Given the description of an element on the screen output the (x, y) to click on. 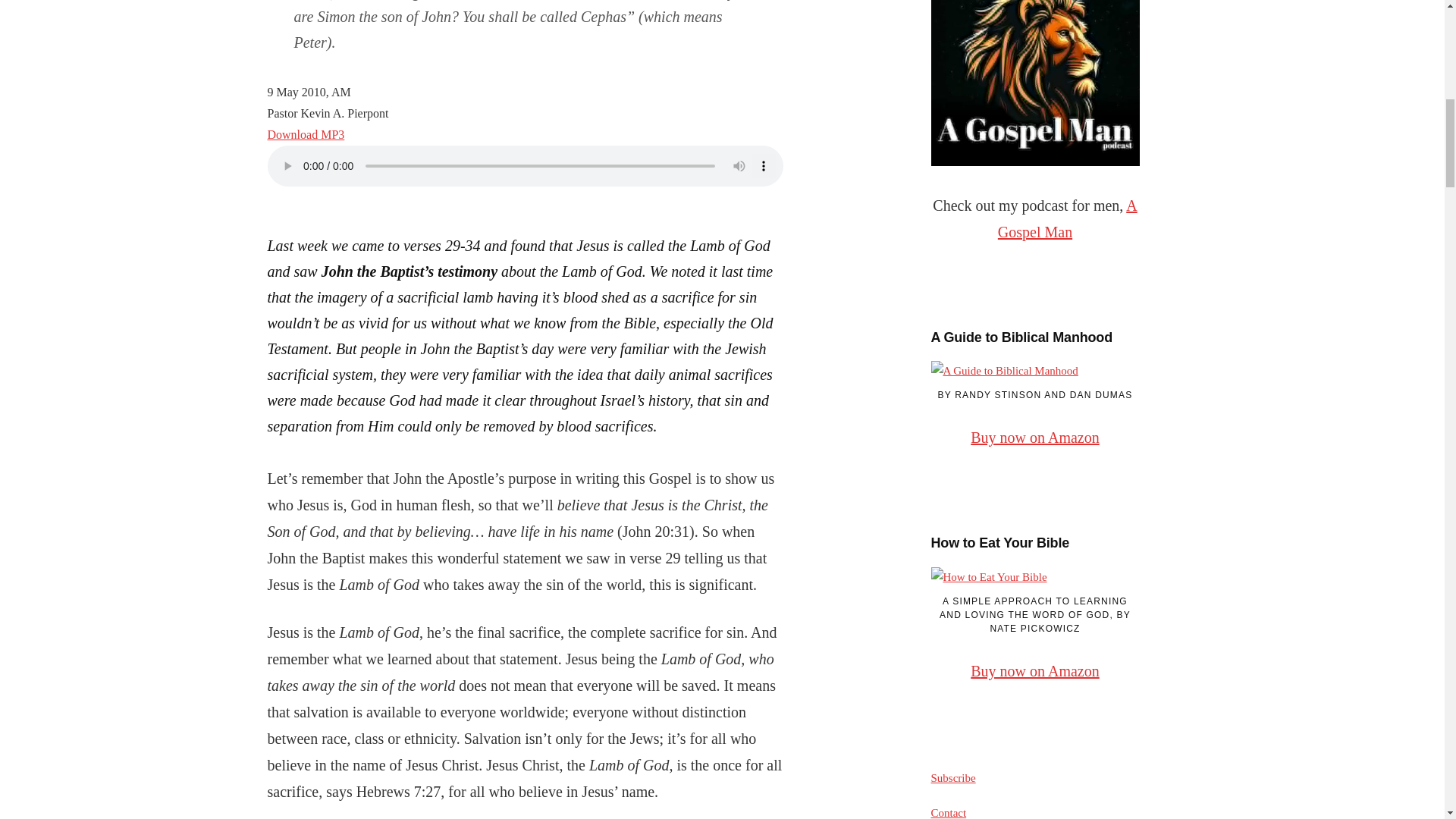
Buy now on Amazon (1035, 437)
Download MP3 (304, 133)
Subscribe (953, 777)
A Gospel Man (1067, 218)
Contact (948, 812)
Buy now on Amazon (1035, 670)
Right click, Save As (304, 133)
